Given the description of an element on the screen output the (x, y) to click on. 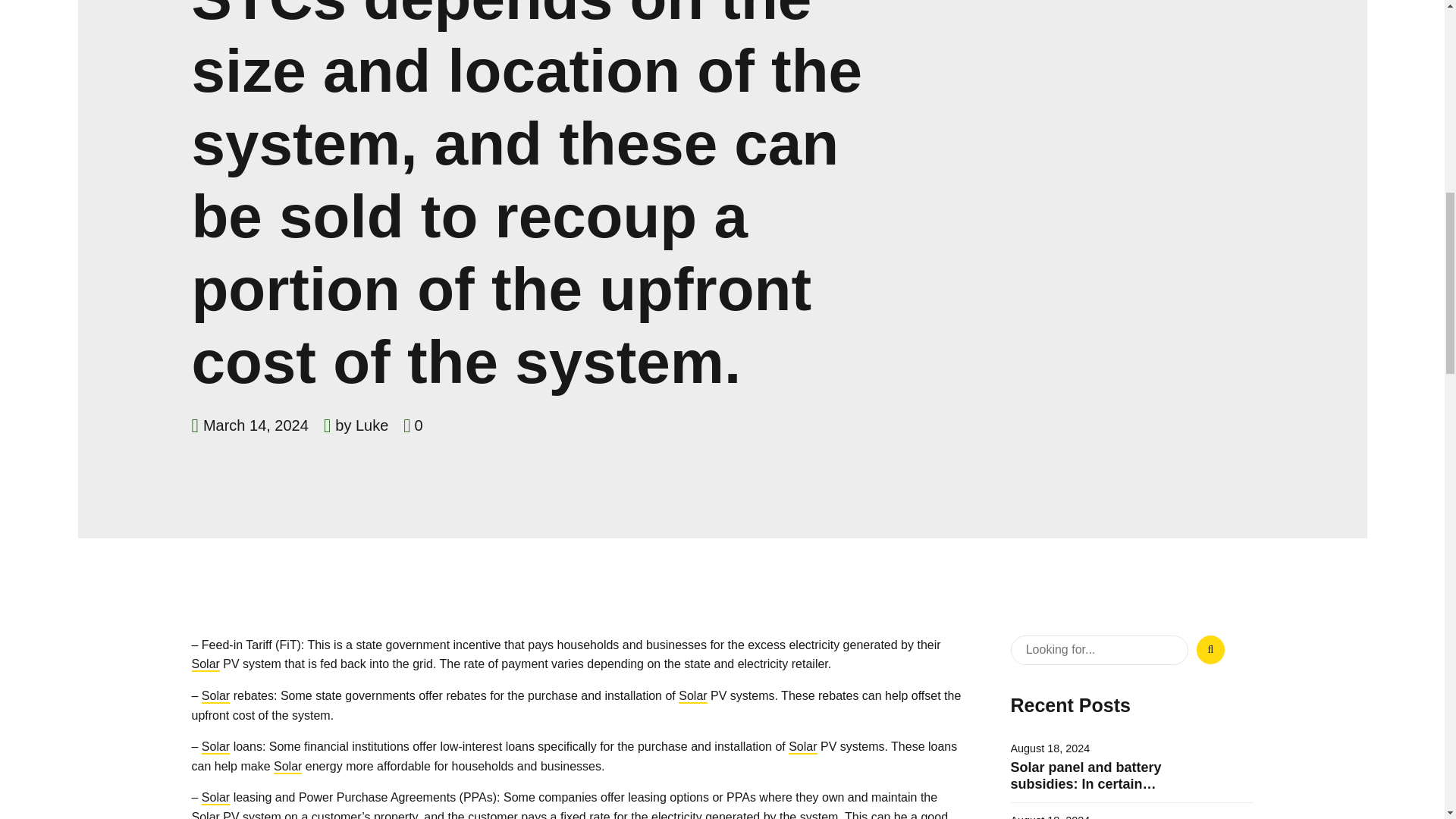
Solar (204, 814)
Solar (216, 746)
Solar (802, 746)
Solar (204, 663)
Solar (216, 695)
Solar (287, 766)
Solar (216, 797)
by Luke (361, 425)
Solar (692, 695)
